Given the description of an element on the screen output the (x, y) to click on. 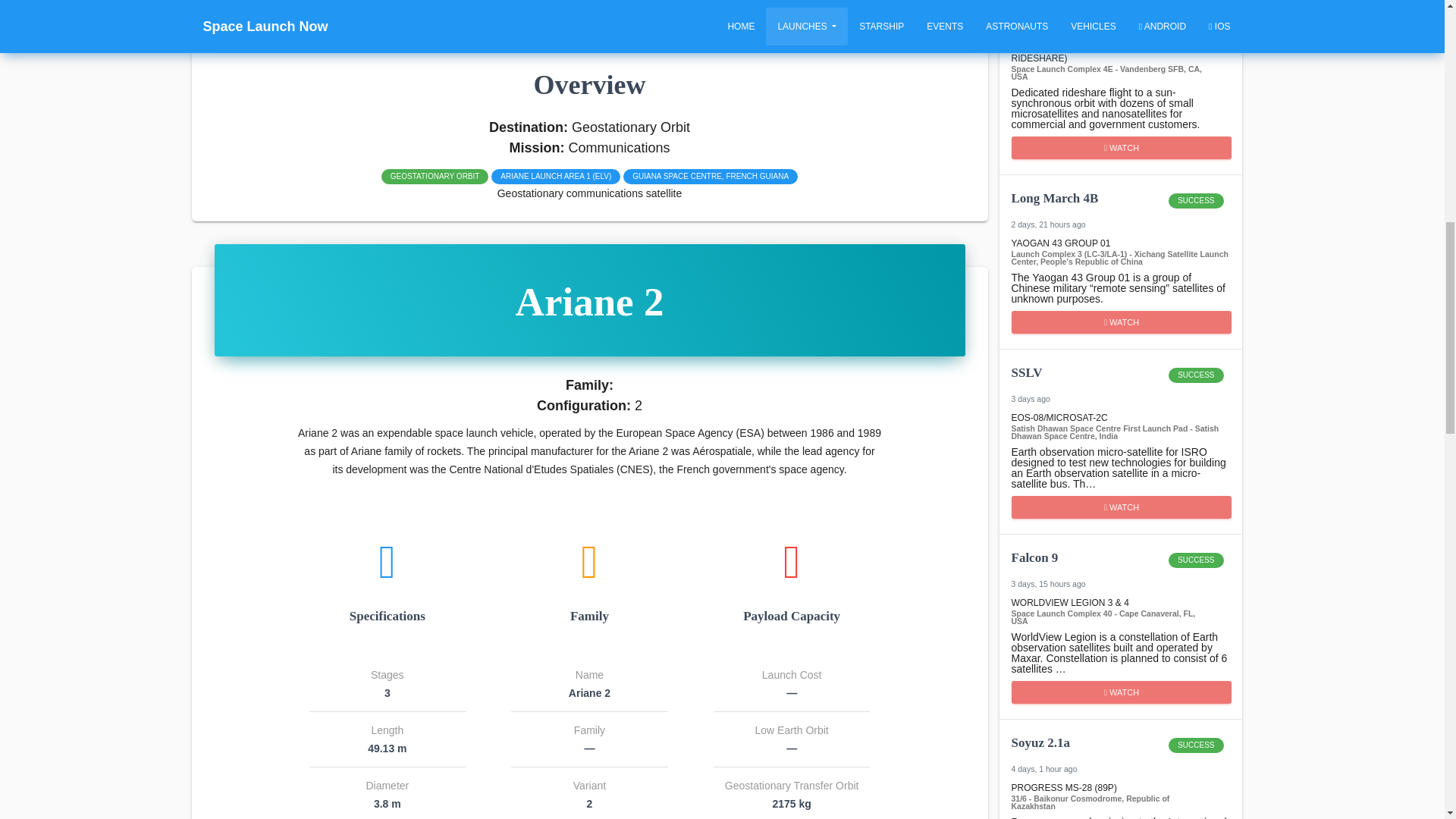
WATCH (1121, 691)
WATCH (1121, 147)
WATCH (1119, 567)
WATCH (1119, 382)
